Given the description of an element on the screen output the (x, y) to click on. 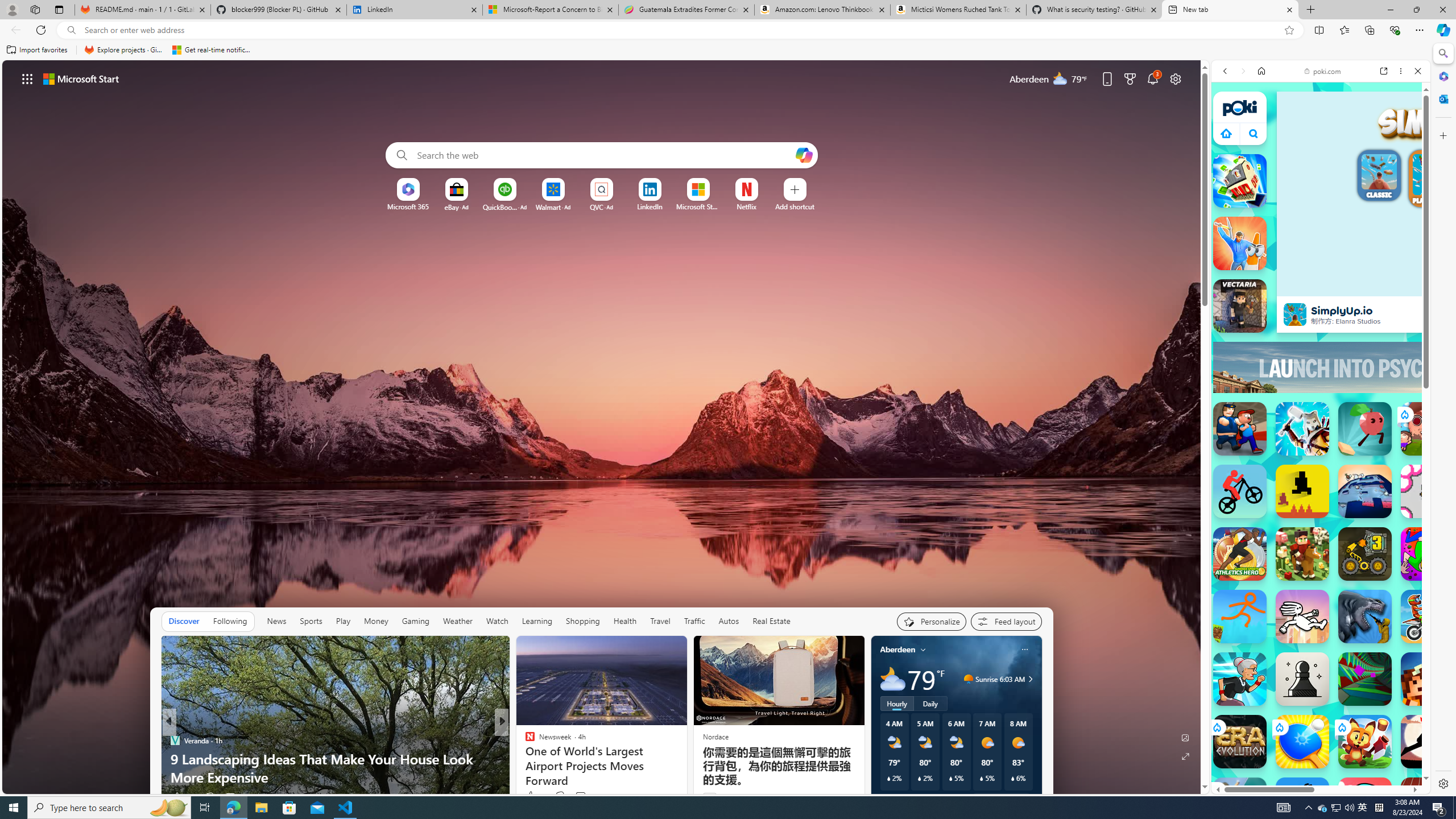
Era: Evolution (1239, 741)
Class: rounded img-fluid d-block w-100 fit-cover (1433, 174)
Show More Io Games (1390, 371)
214 Like (532, 796)
Hills of Steel (1264, 598)
View comments 65 Comment (585, 796)
JollyWorld (1427, 553)
